Given the description of an element on the screen output the (x, y) to click on. 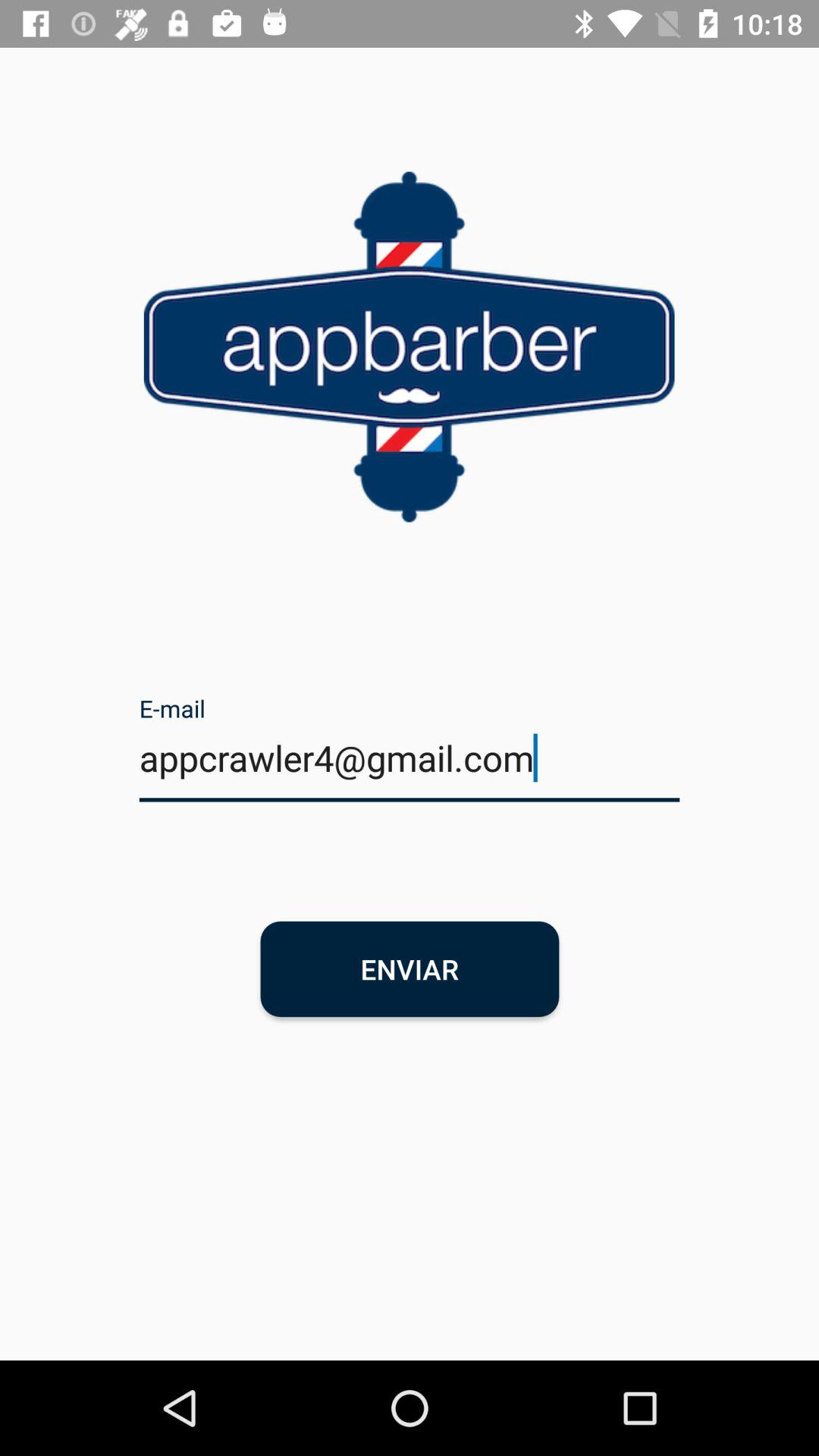
press the enviar icon (409, 968)
